Given the description of an element on the screen output the (x, y) to click on. 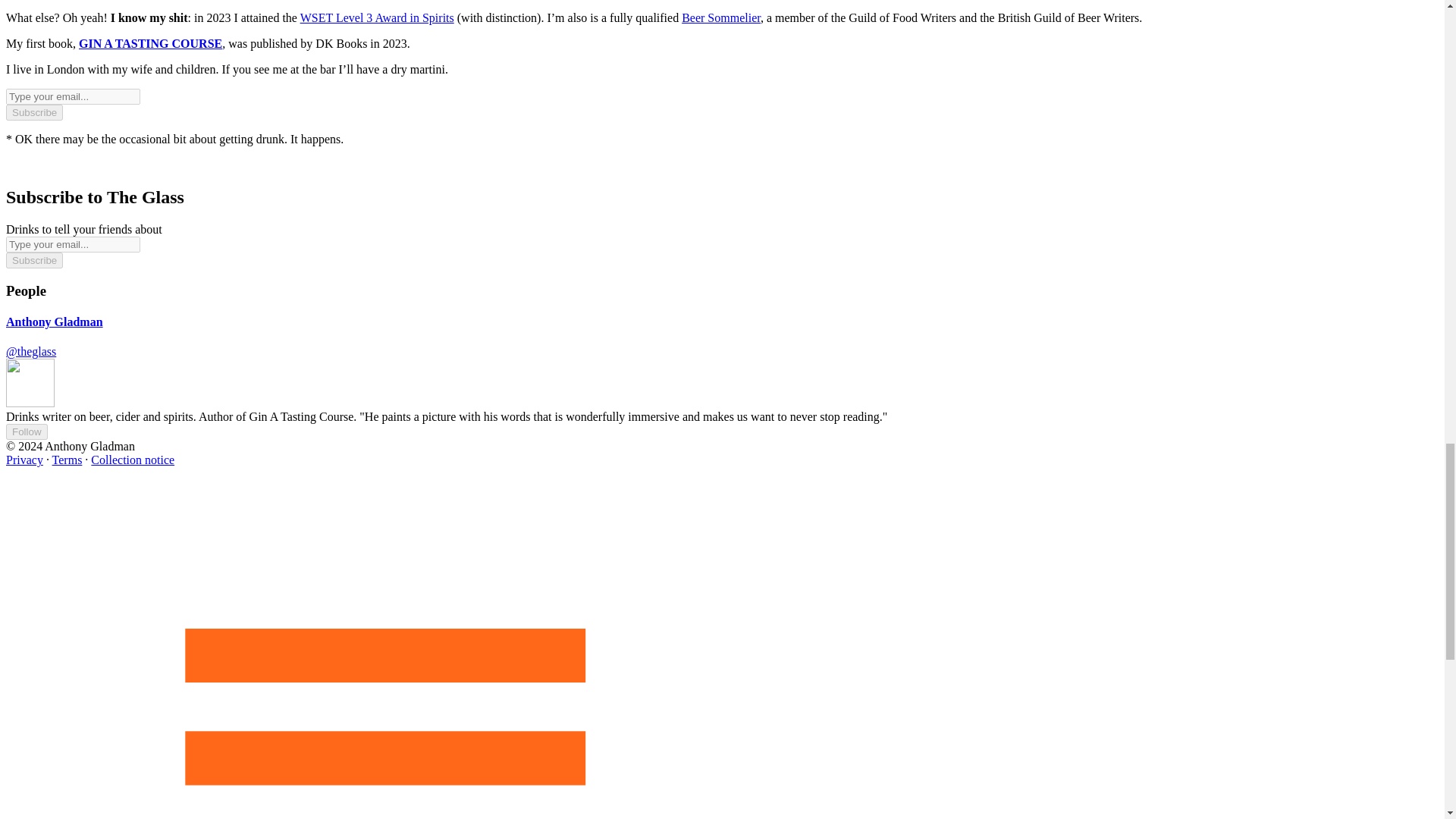
GIN A TASTING COURSE (150, 42)
Beer Sommelier (720, 17)
Collection notice (132, 459)
Subscribe (33, 260)
WSET Level 3 Award in Spirits (376, 17)
Terms (67, 459)
Privacy (24, 459)
Follow (26, 431)
Subscribe (33, 112)
